Given the description of an element on the screen output the (x, y) to click on. 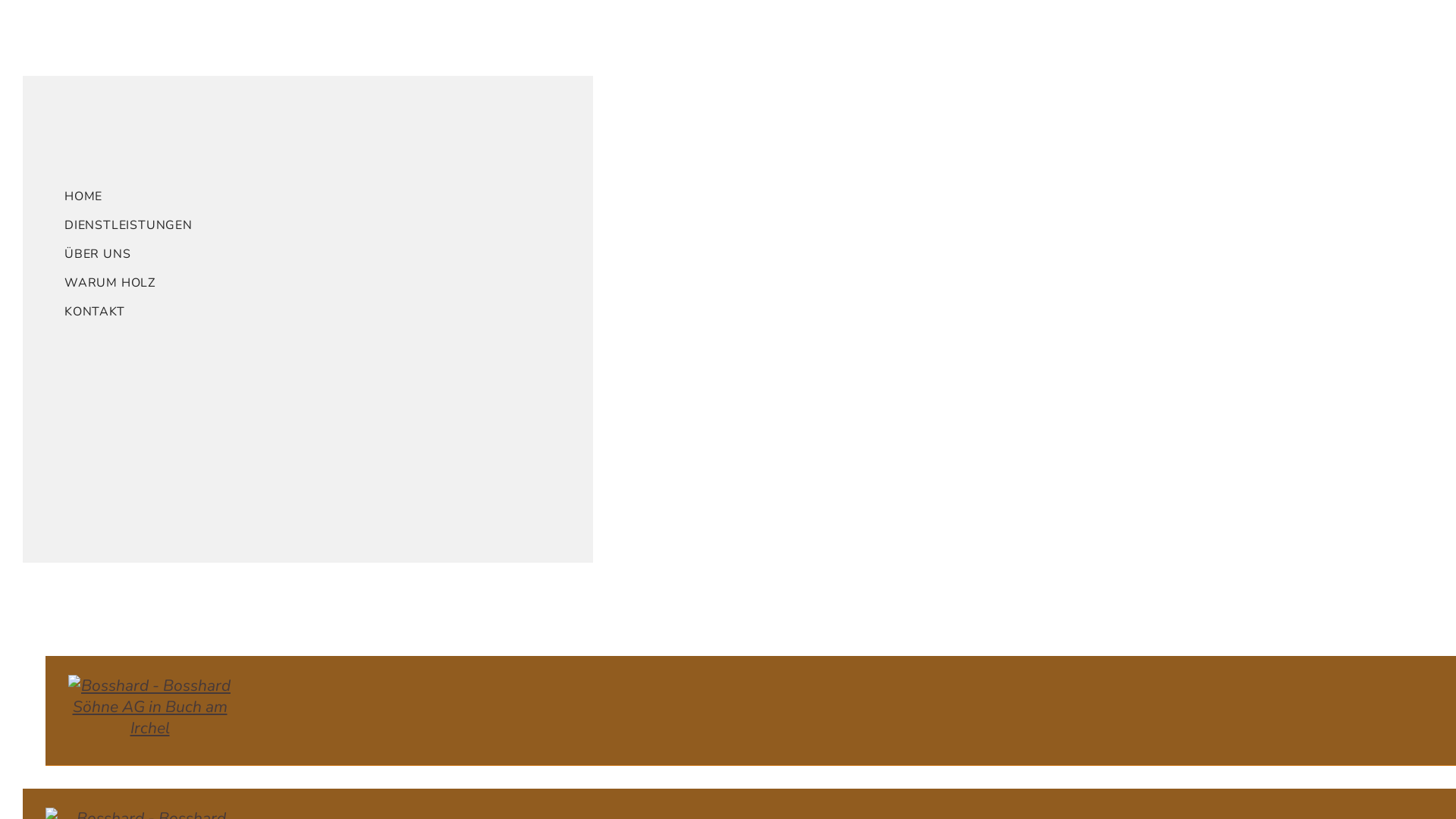
WARUM HOLZ Element type: text (319, 282)
KONTAKT Element type: text (319, 311)
HOME Element type: text (319, 196)
DIENSTLEISTUNGEN Element type: text (319, 224)
